Given the description of an element on the screen output the (x, y) to click on. 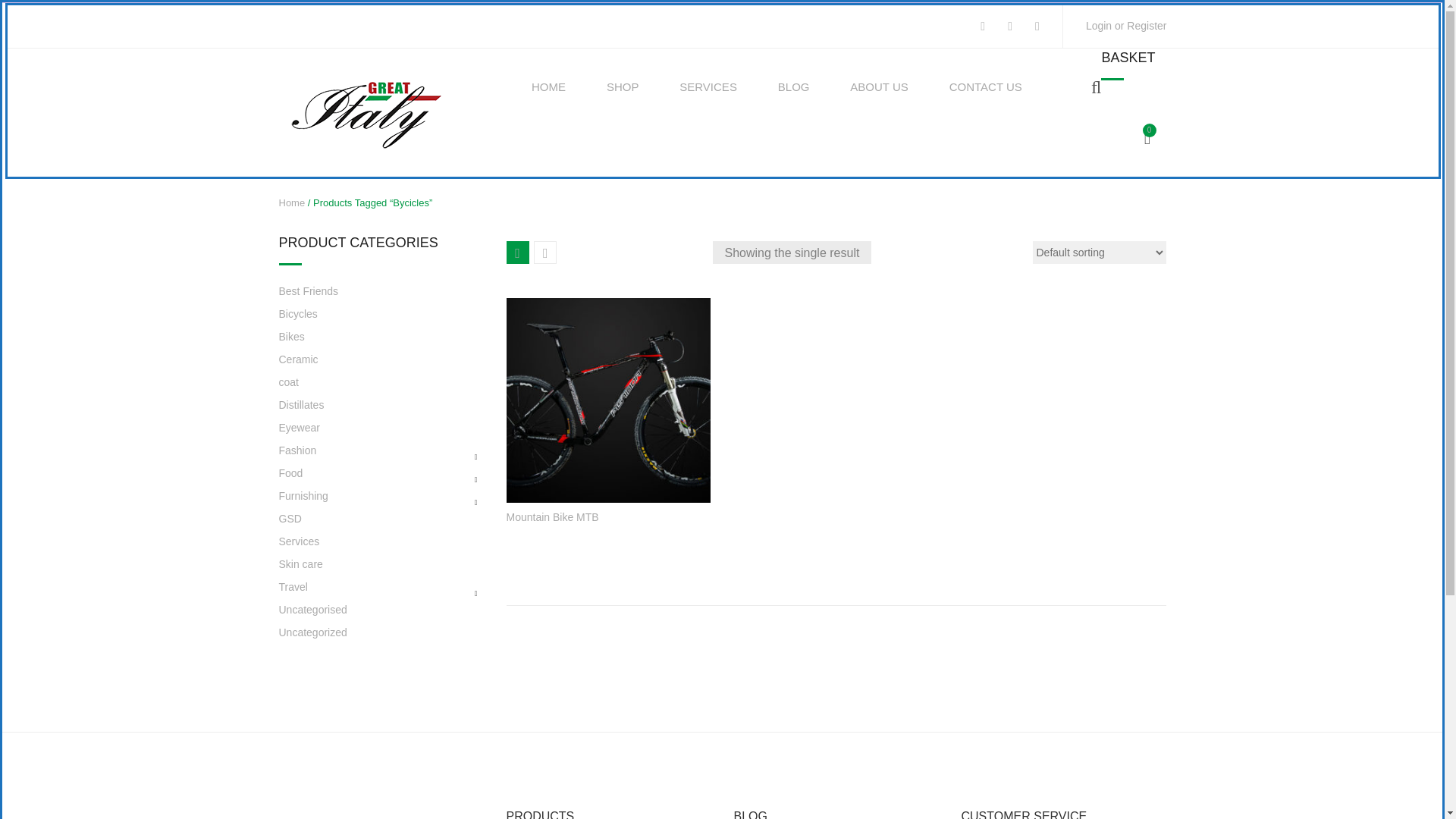
CONTACT US (985, 87)
Grid (517, 251)
Mountain Bike MTB (608, 400)
HOME (548, 87)
Login or Register (1126, 25)
ABOUT US (878, 87)
SHOP (623, 87)
Login or Register (1126, 25)
SERVICES (708, 87)
BLOG (793, 87)
Great Italy (366, 111)
List (545, 251)
